Given the description of an element on the screen output the (x, y) to click on. 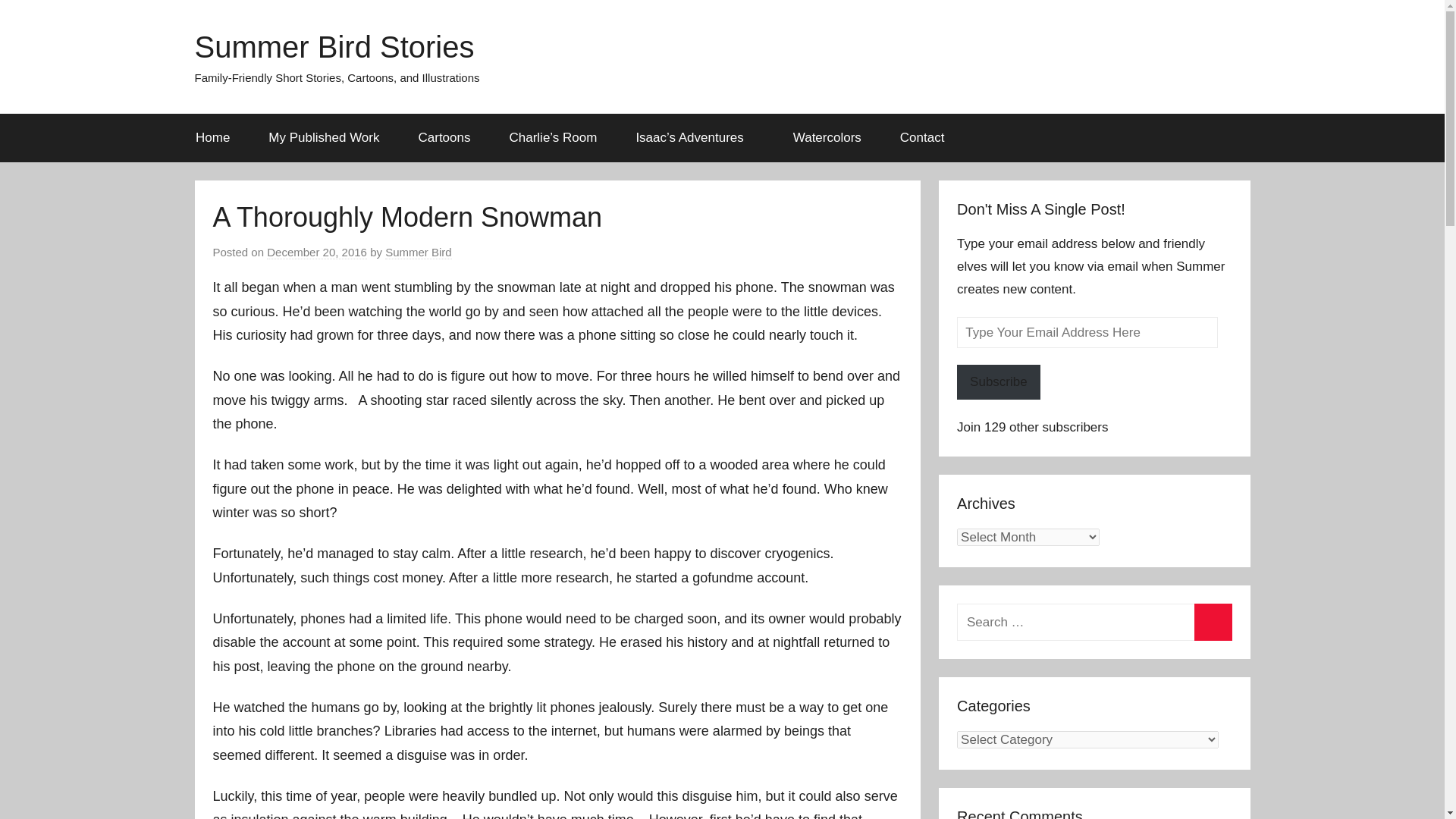
Cartoons (443, 137)
Contact (921, 137)
Watercolors (826, 137)
View all posts by Summer Bird (418, 252)
My Published Work (323, 137)
Summer Bird Stories (333, 46)
Home (212, 137)
December 20, 2016 (316, 252)
Search for: (1093, 621)
Summer Bird (418, 252)
